Given the description of an element on the screen output the (x, y) to click on. 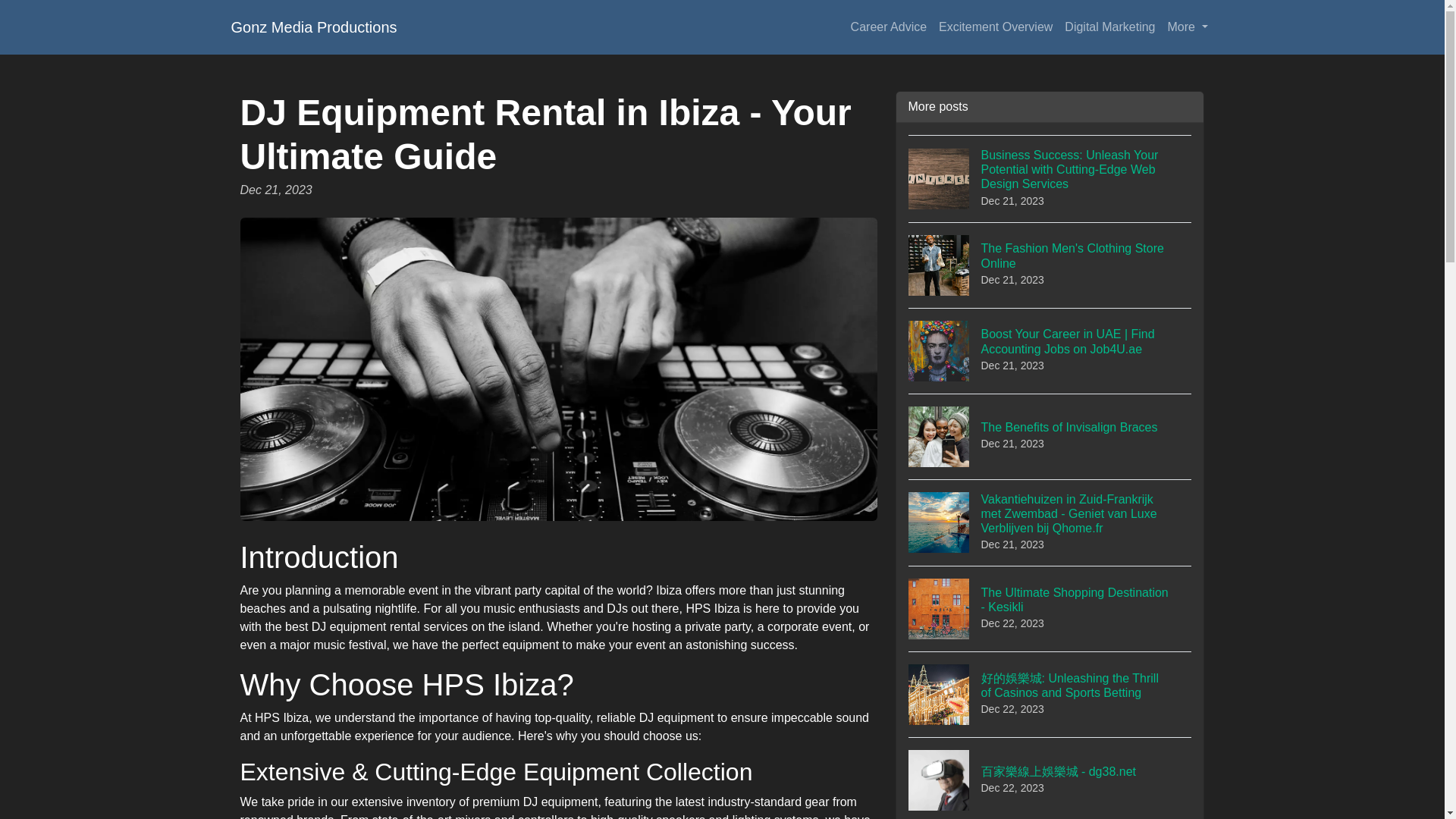
Career Advice (1050, 608)
Excitement Overview (888, 27)
Gonz Media Productions (1050, 436)
Digital Marketing (995, 27)
More (313, 27)
